Given the description of an element on the screen output the (x, y) to click on. 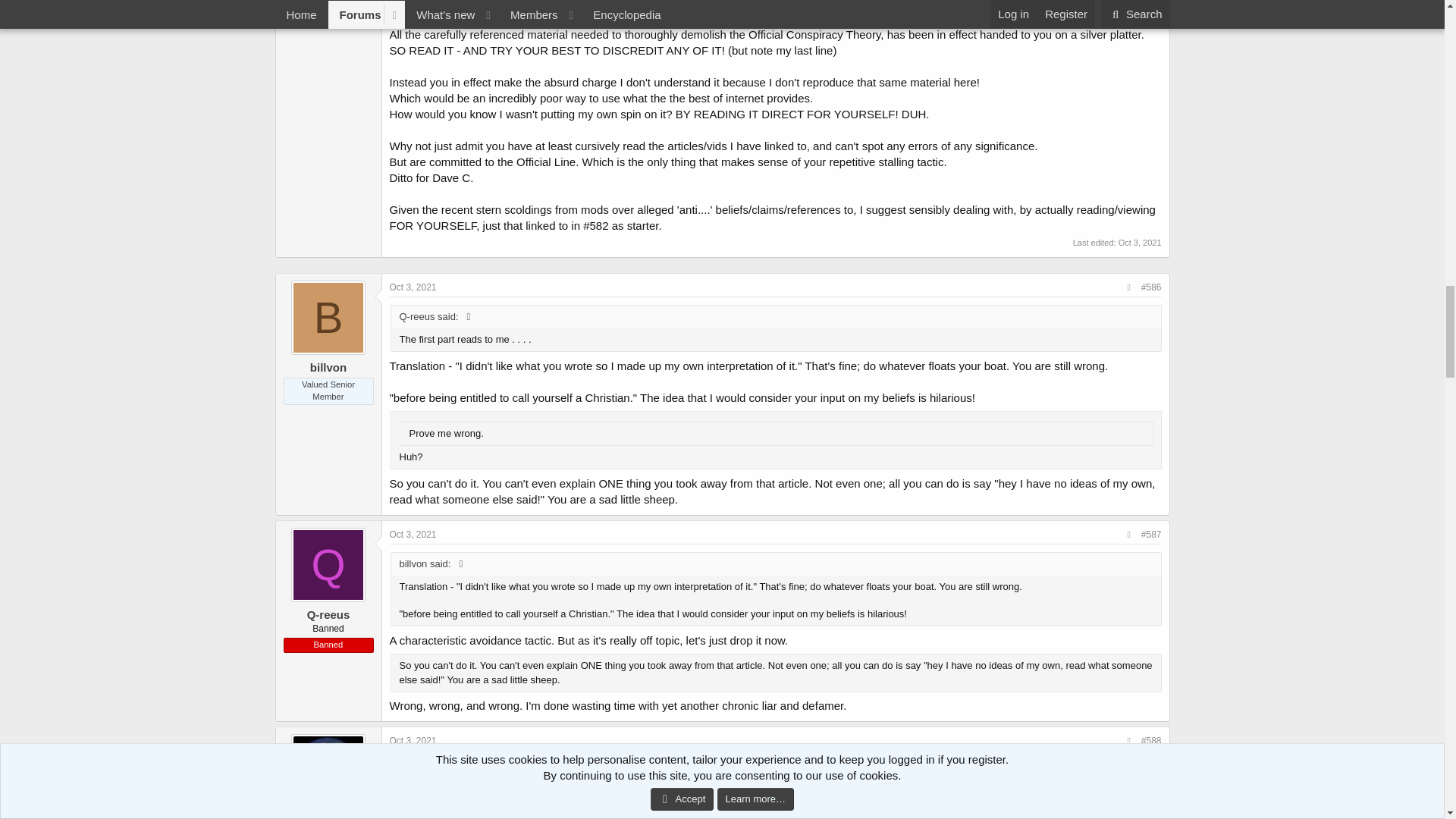
Oct 3, 2021 at 4:13 AM (1139, 242)
